Given the description of an element on the screen output the (x, y) to click on. 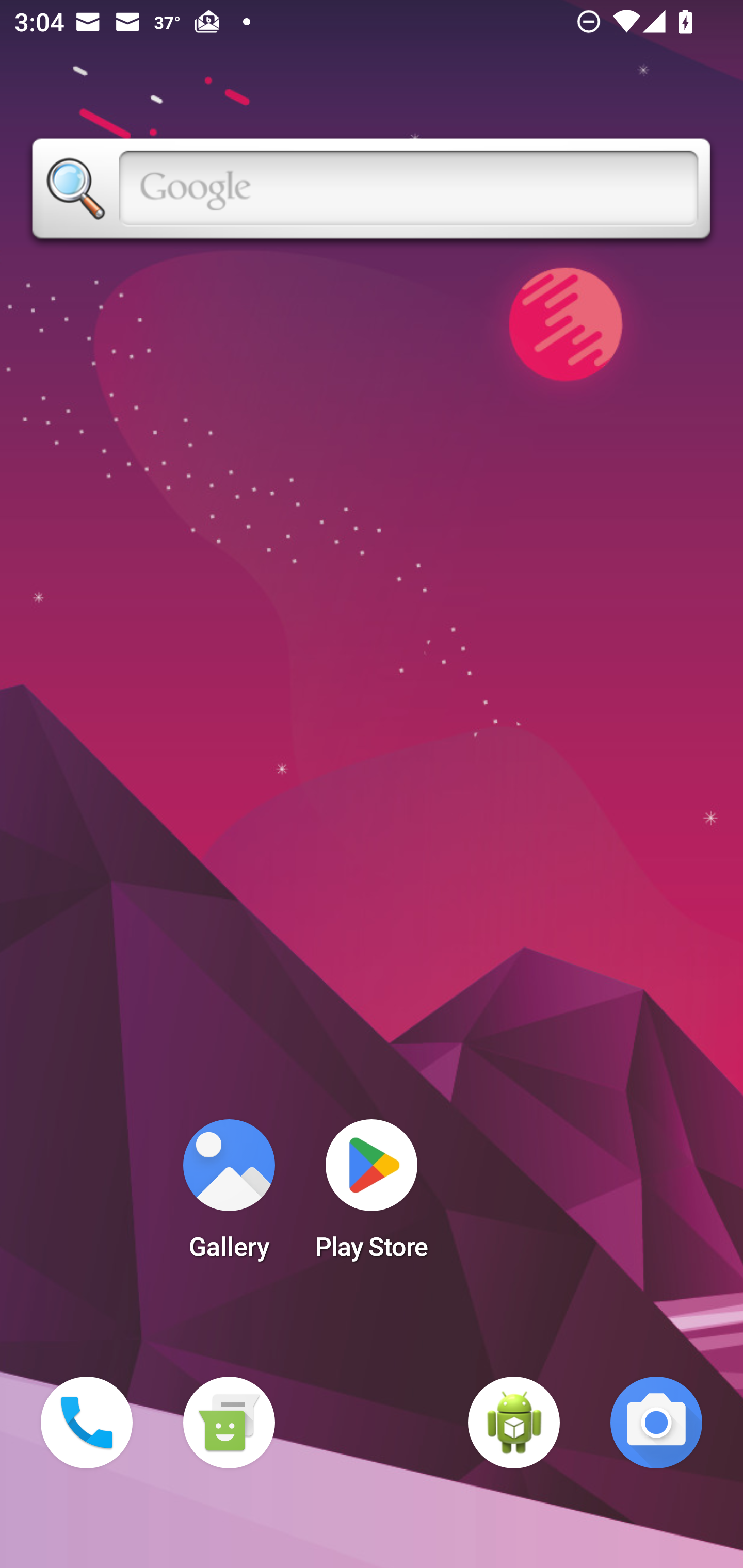
Gallery (228, 1195)
Play Store (371, 1195)
Phone (86, 1422)
Messaging (228, 1422)
WebView Browser Tester (513, 1422)
Camera (656, 1422)
